Given the description of an element on the screen output the (x, y) to click on. 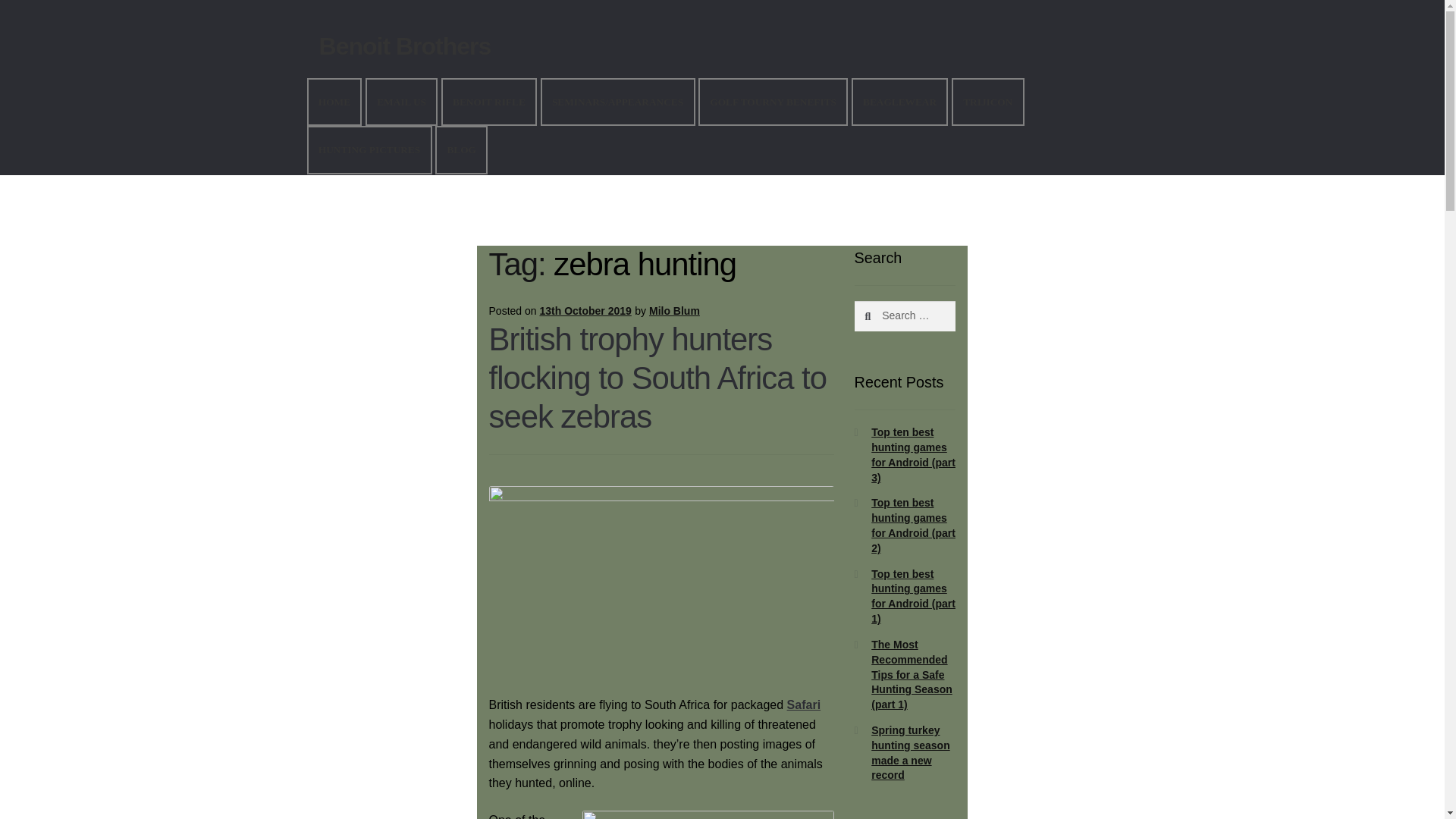
BLOG (461, 149)
BENOIT RIFLE (489, 101)
13th October 2019 (584, 310)
Milo Blum (674, 310)
HOME (334, 101)
Benoit Brothers (405, 45)
TRIJICON (988, 101)
